Given the description of an element on the screen output the (x, y) to click on. 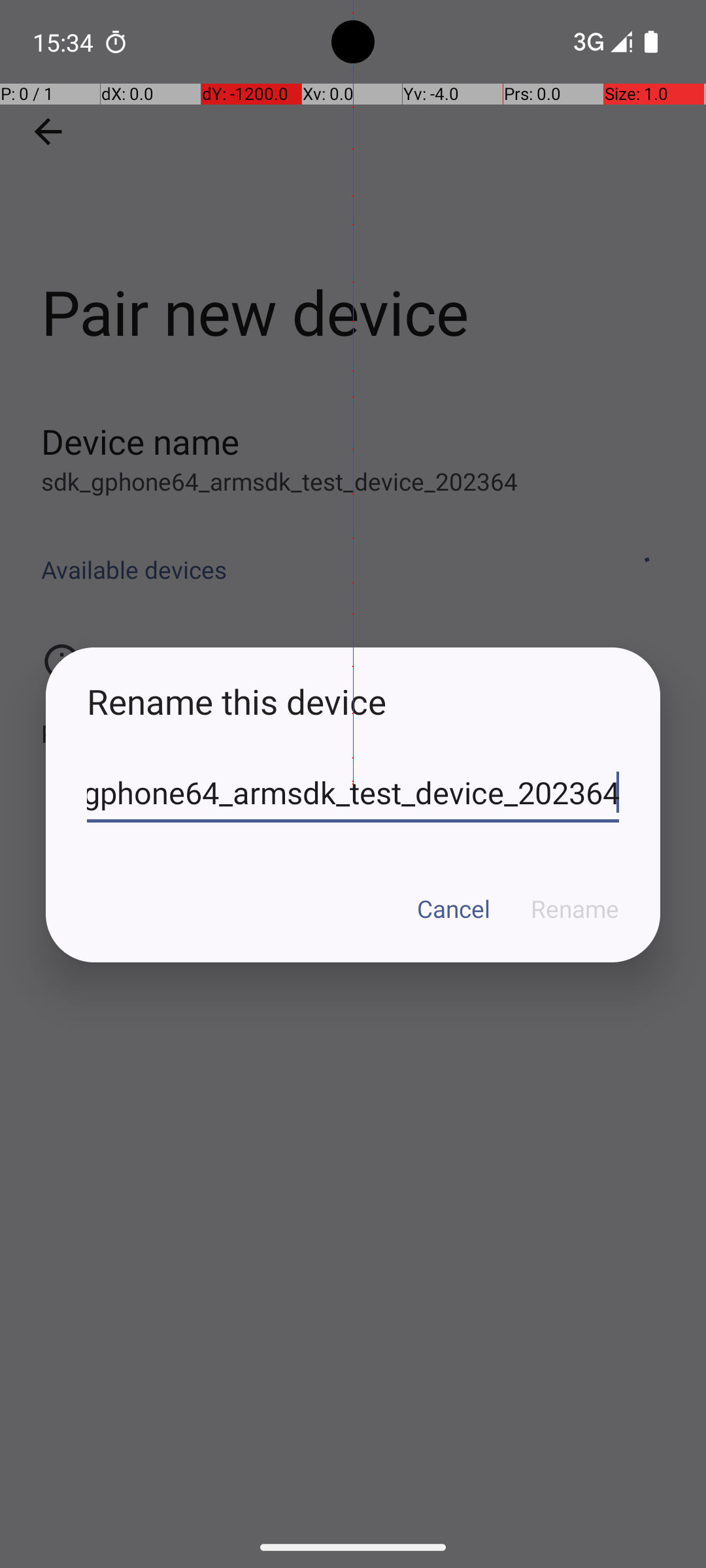
Rename this device Element type: android.widget.TextView (352, 701)
sdk_gphone64_armsdk_test_device_202364 Element type: android.widget.EditText (352, 792)
